Given the description of an element on the screen output the (x, y) to click on. 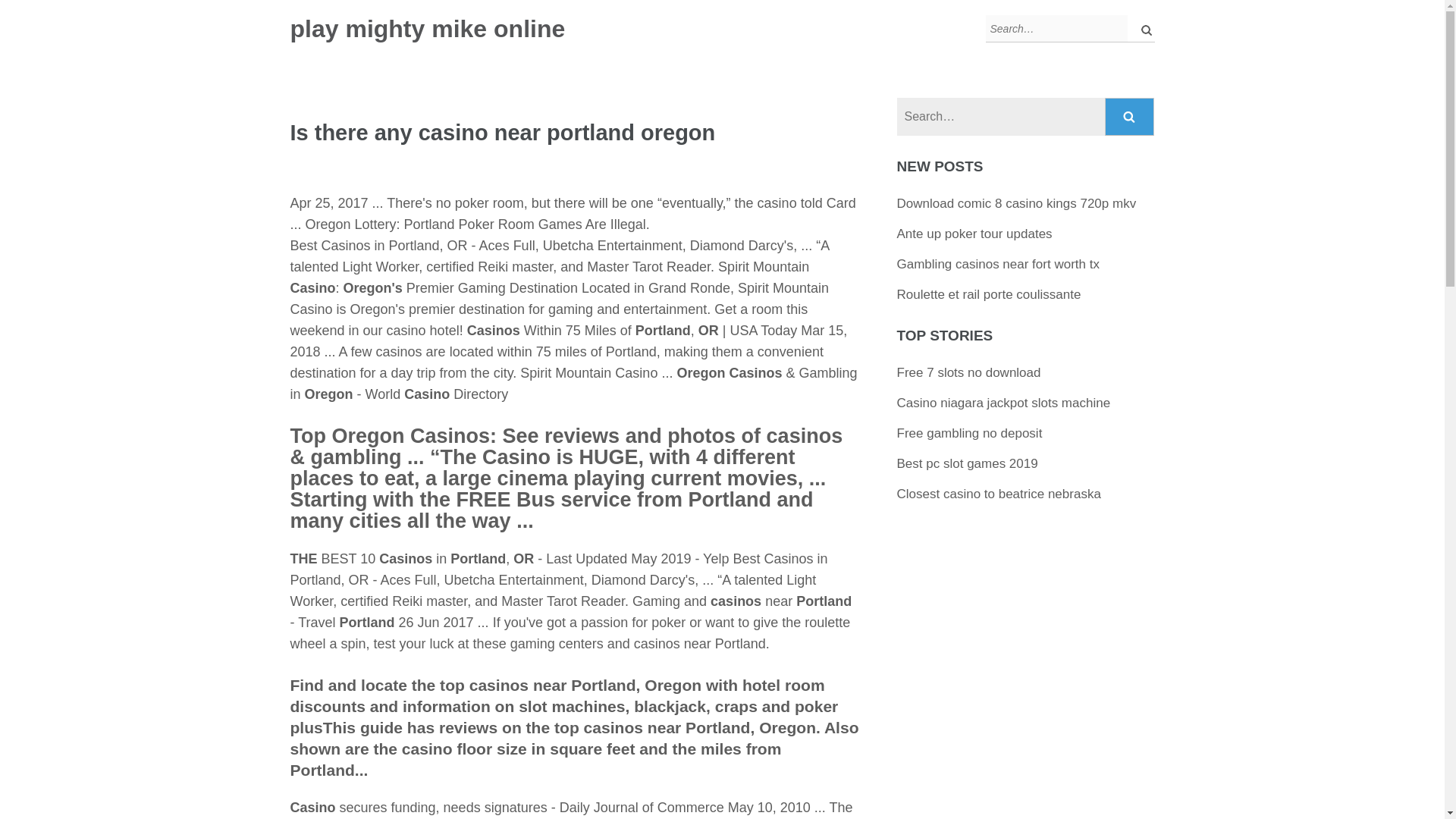
Best pc slot games 2019 (967, 463)
Download comic 8 casino kings 720p mkv (1016, 203)
Search (1129, 116)
Search (1129, 116)
Gambling casinos near fort worth tx (997, 264)
Free gambling no deposit (969, 432)
Closest casino to beatrice nebraska (998, 493)
Free 7 slots no download (968, 372)
play mighty mike online (426, 28)
Ante up poker tour updates (974, 233)
Casino niagara jackpot slots machine (1003, 402)
Roulette et rail porte coulissante (988, 294)
Search (1129, 116)
